Given the description of an element on the screen output the (x, y) to click on. 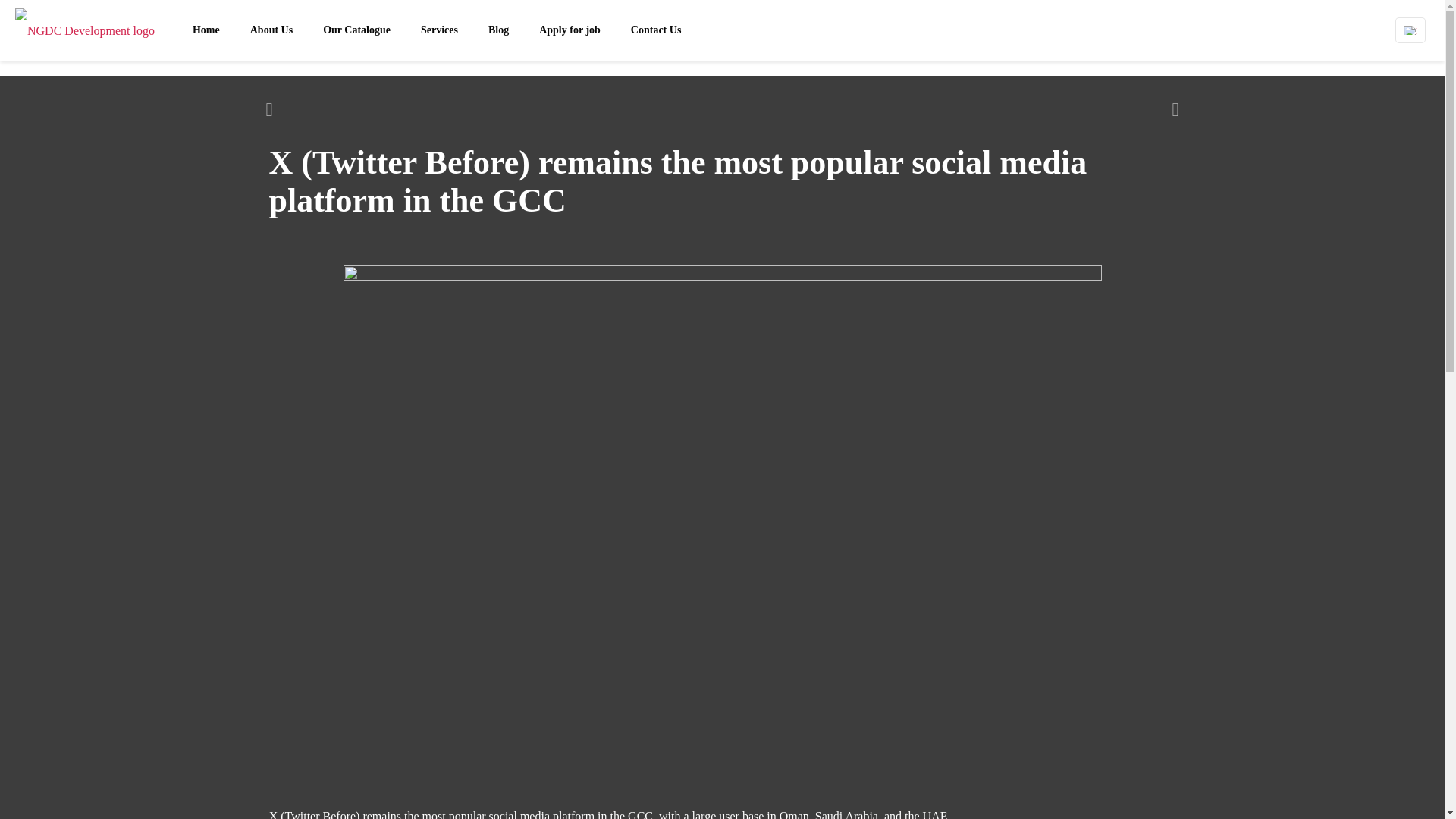
Services (439, 30)
Contact Us (656, 30)
Our Catalogue (356, 30)
About Us (270, 30)
Home (205, 30)
Apply for job (569, 30)
